Given the description of an element on the screen output the (x, y) to click on. 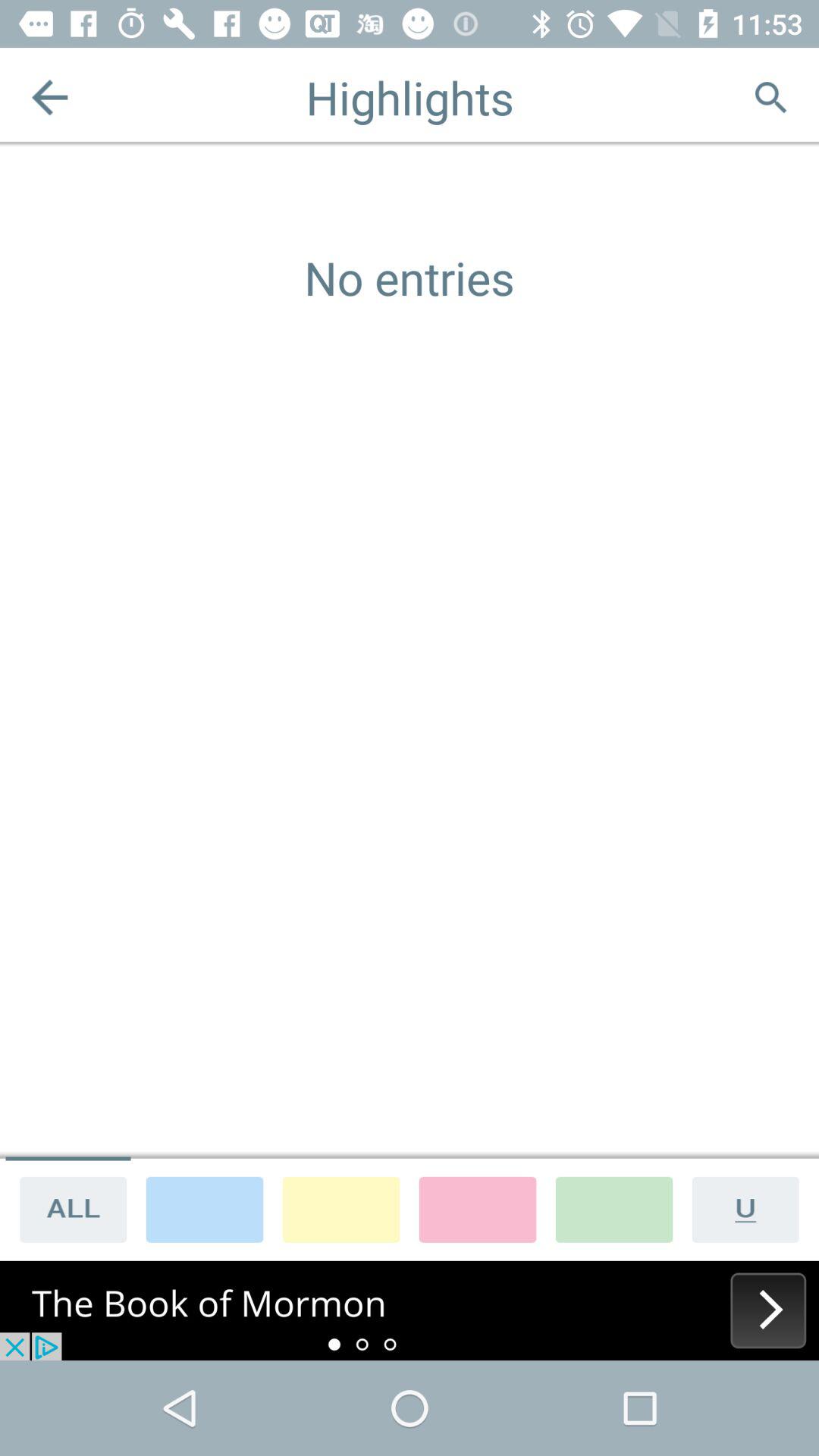
go back (49, 97)
